Given the description of an element on the screen output the (x, y) to click on. 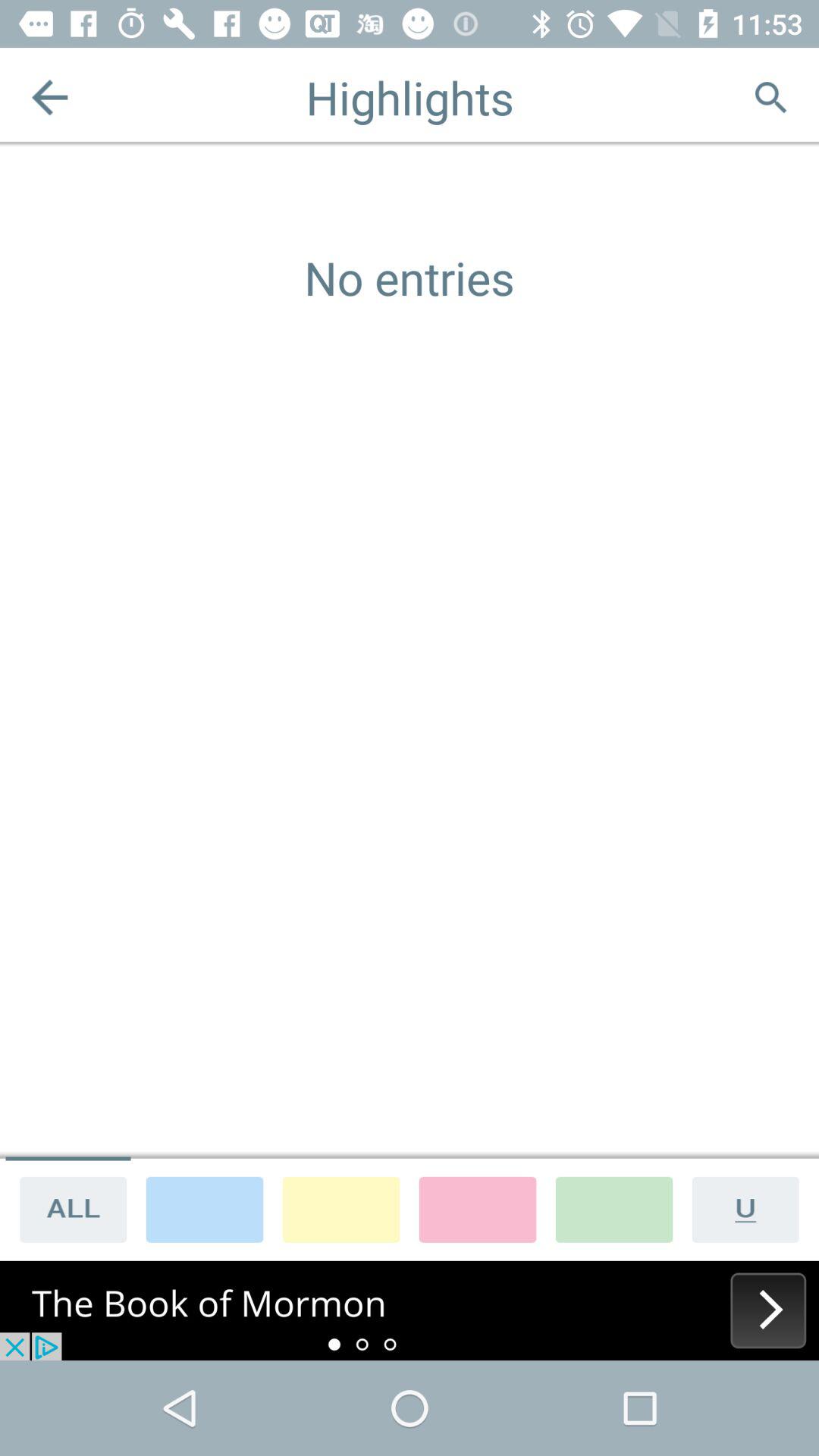
go back (49, 97)
